Given the description of an element on the screen output the (x, y) to click on. 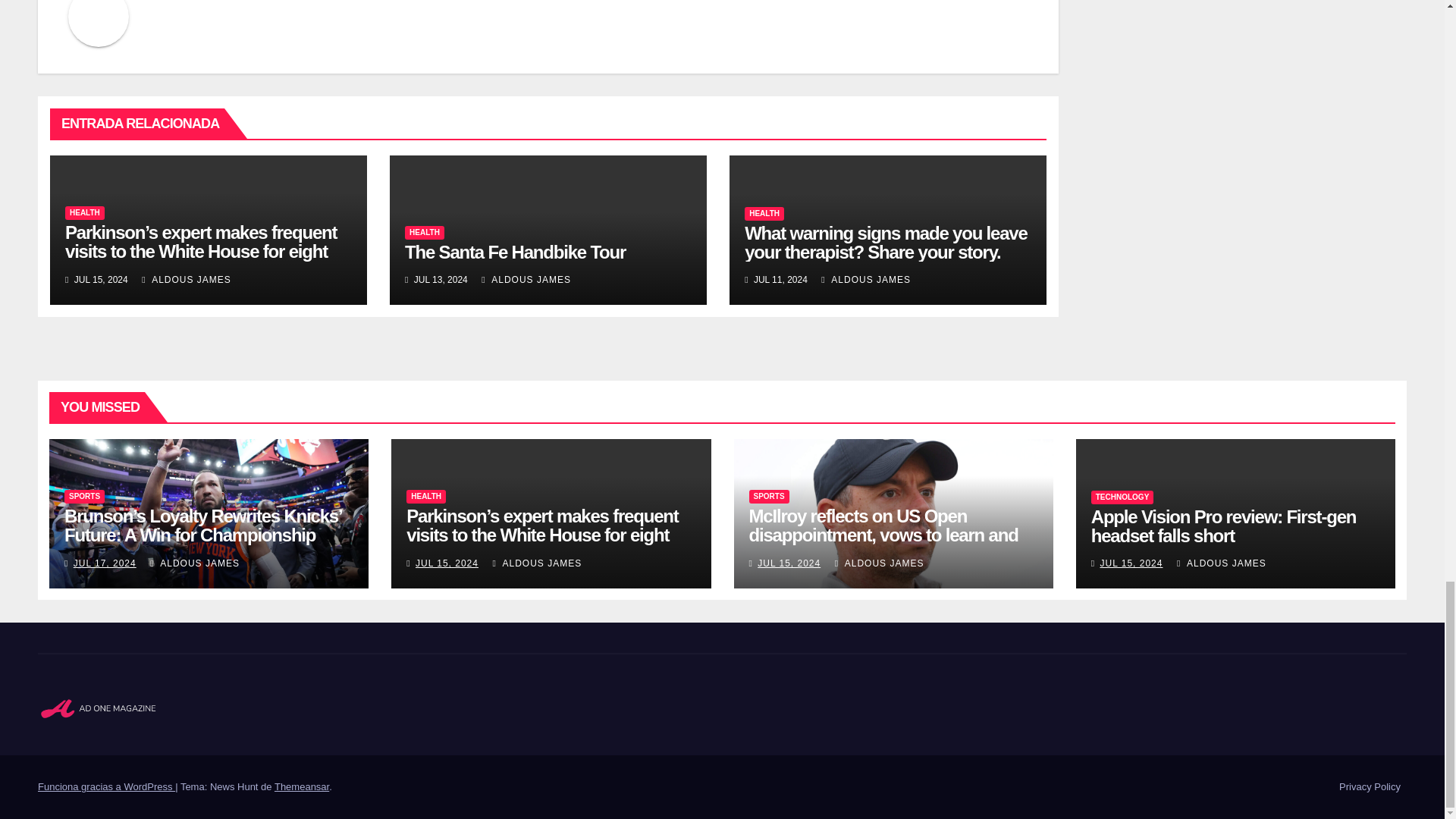
ALDOUS JAMES (866, 279)
ALDOUS JAMES (525, 279)
The Santa Fe Handbike Tour (515, 251)
HEALTH (764, 213)
Privacy Policy (1369, 786)
Permalink to: The Santa Fe Handbike Tour (515, 251)
HEALTH (84, 213)
HEALTH (424, 232)
ALDOUS JAMES (186, 279)
